Given the description of an element on the screen output the (x, y) to click on. 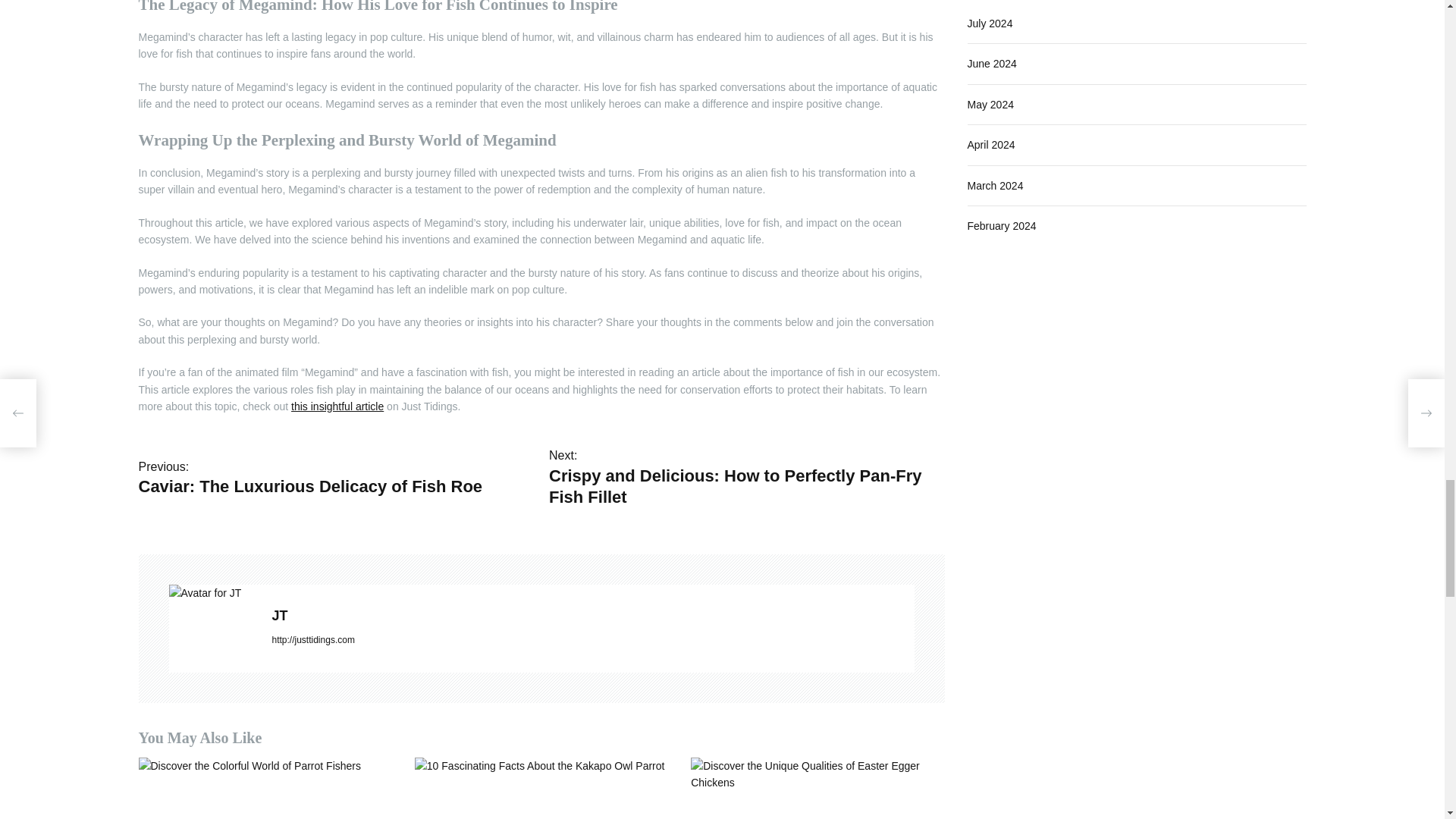
JT (212, 592)
JT (592, 616)
